Given the description of an element on the screen output the (x, y) to click on. 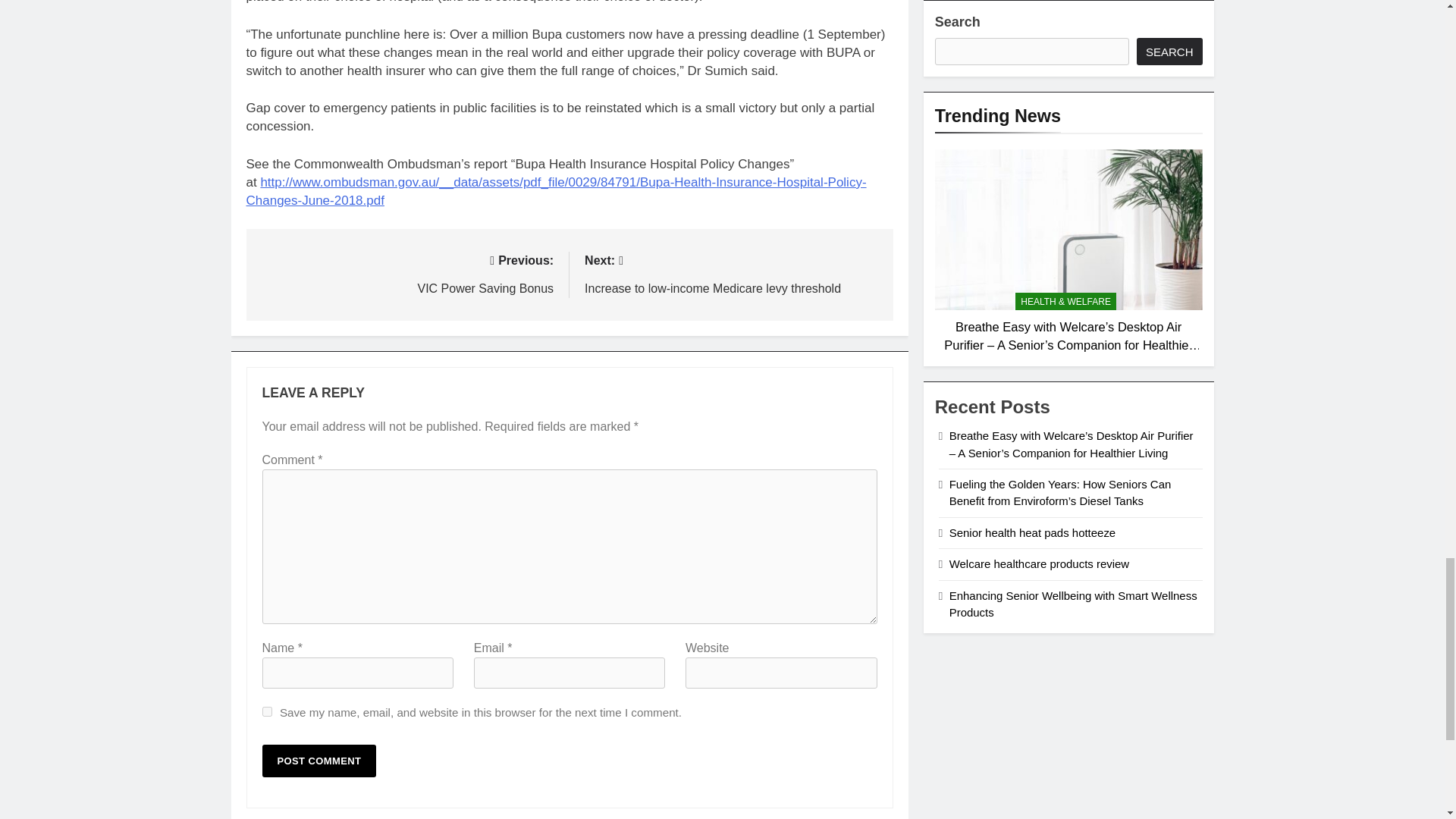
yes (406, 272)
Post Comment (267, 711)
Post Comment (319, 760)
